Given the description of an element on the screen output the (x, y) to click on. 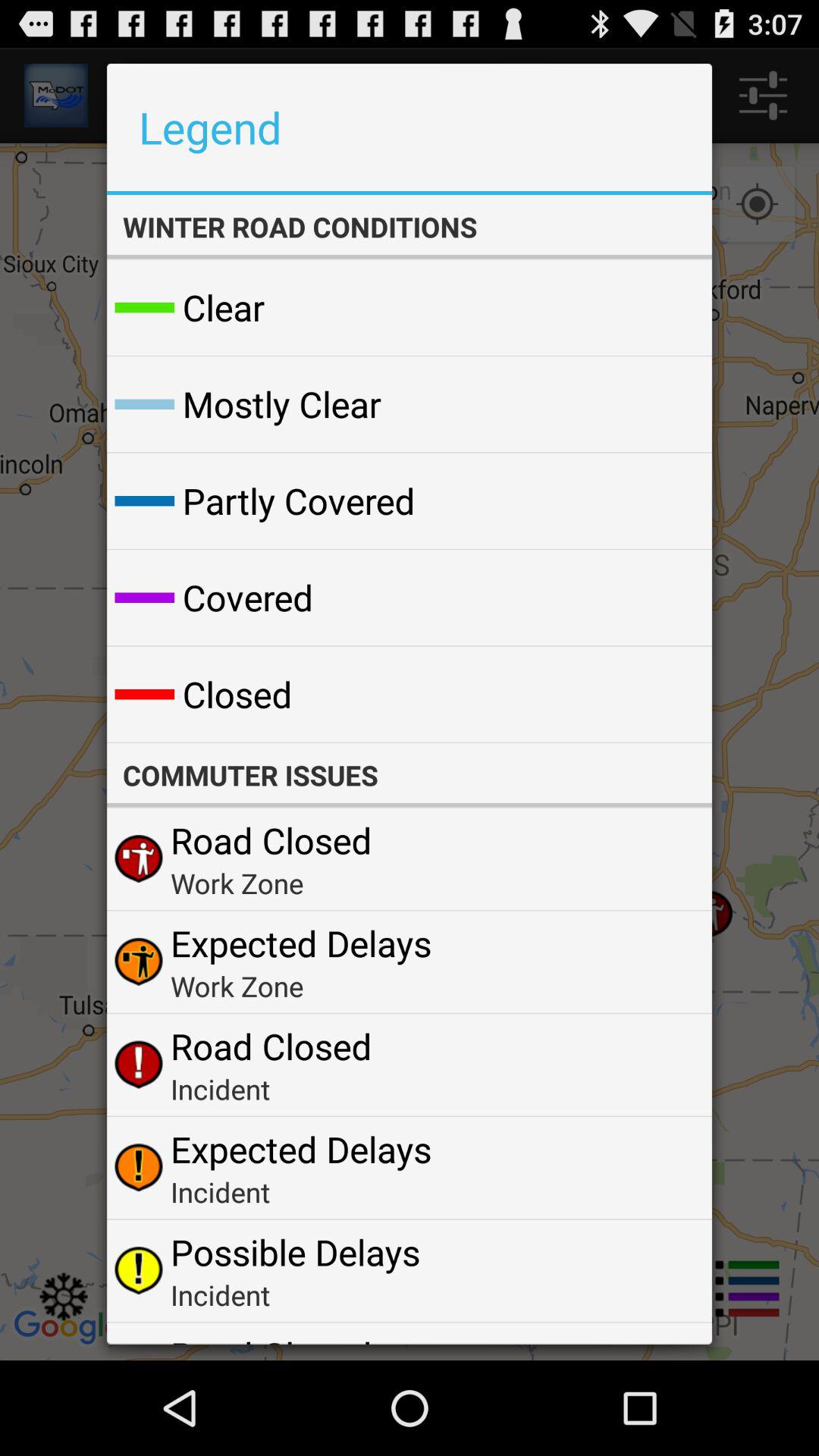
choose app above the covered icon (298, 500)
